Given the description of an element on the screen output the (x, y) to click on. 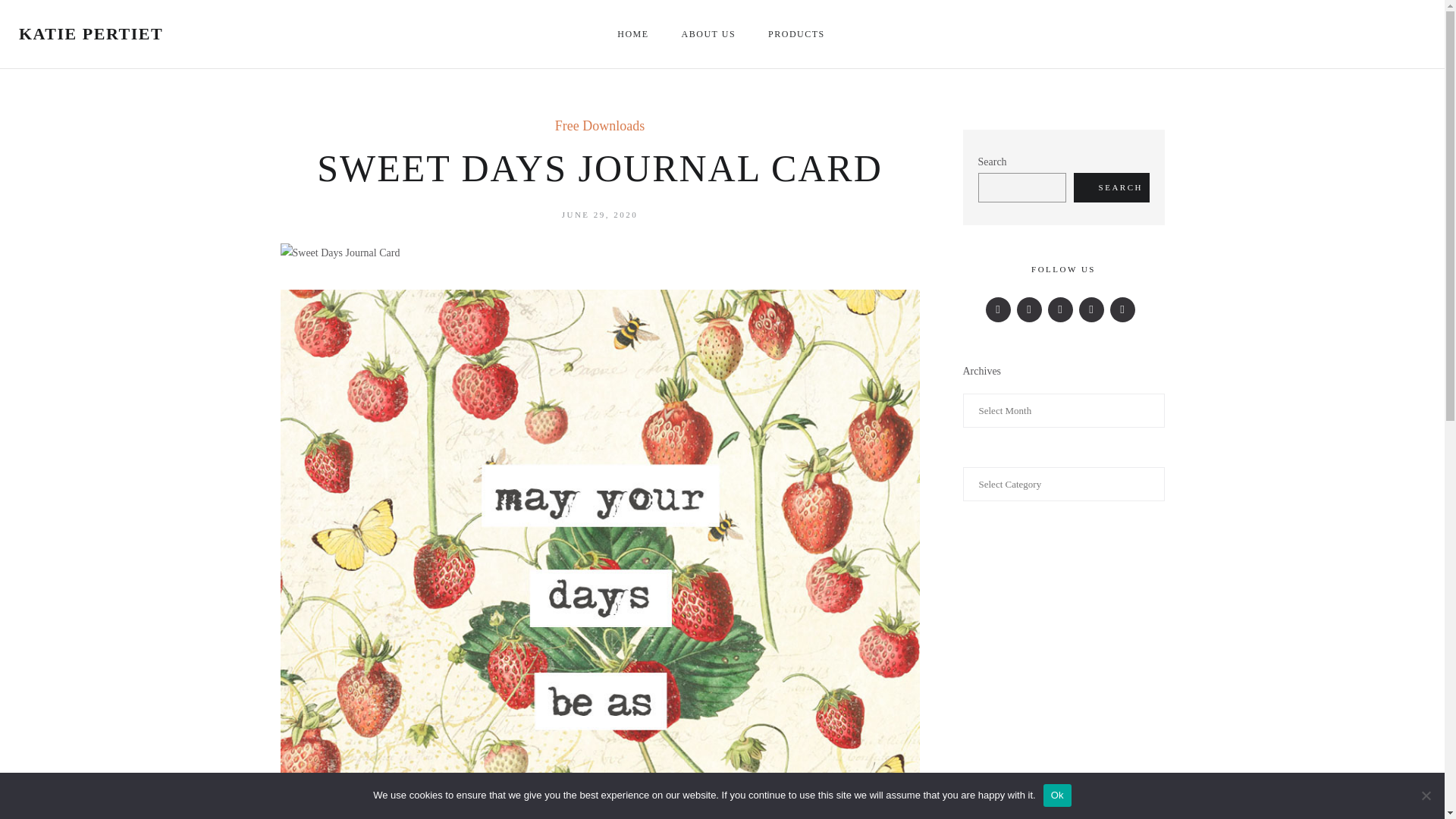
ABOUT US (709, 34)
SEARCH (1112, 187)
Facebook (997, 309)
Instagram (1060, 309)
Ok (1057, 794)
HOME (633, 34)
KATIE PERTIET (90, 33)
YouTube (1122, 309)
No (1425, 795)
Free Downloads (599, 126)
Pinterest (1090, 309)
Twitter (1029, 309)
PRODUCTS (797, 34)
